Given the description of an element on the screen output the (x, y) to click on. 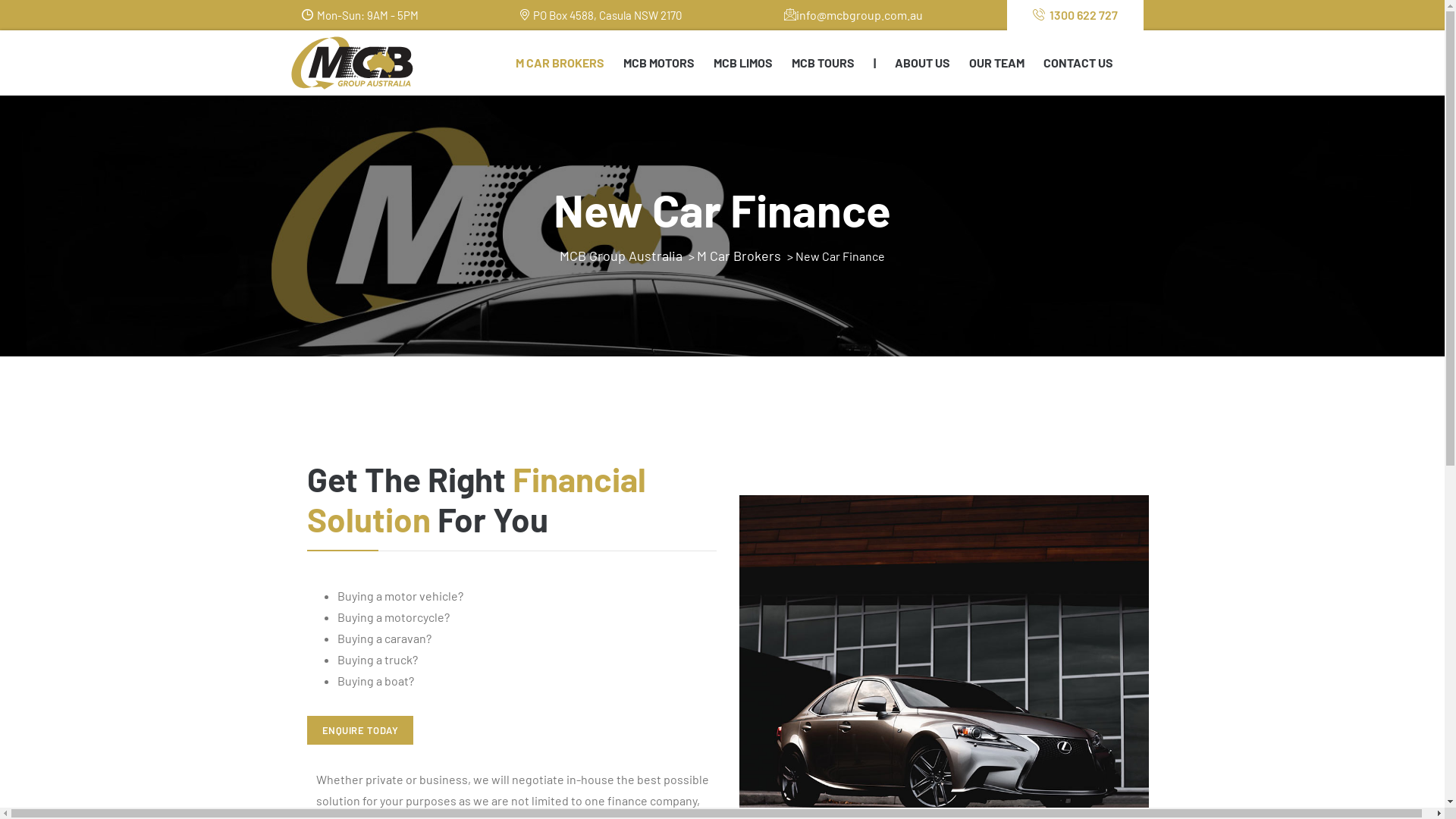
MCB MOTORS Element type: text (658, 62)
ENQUIRE TODAY Element type: text (360, 729)
| Element type: text (874, 62)
M Car Brokers Element type: text (738, 255)
1300 622 727 Element type: text (1075, 15)
info@mcbgroup.com.au Element type: text (853, 15)
MCB TOURS Element type: text (822, 62)
ABOUT US Element type: text (922, 62)
MCB Group Australia Element type: text (620, 255)
MCB LIMOS Element type: text (741, 62)
CONTACT US Element type: text (1078, 62)
M CAR BROKERS Element type: text (559, 62)
OUR TEAM Element type: text (996, 62)
